Given the description of an element on the screen output the (x, y) to click on. 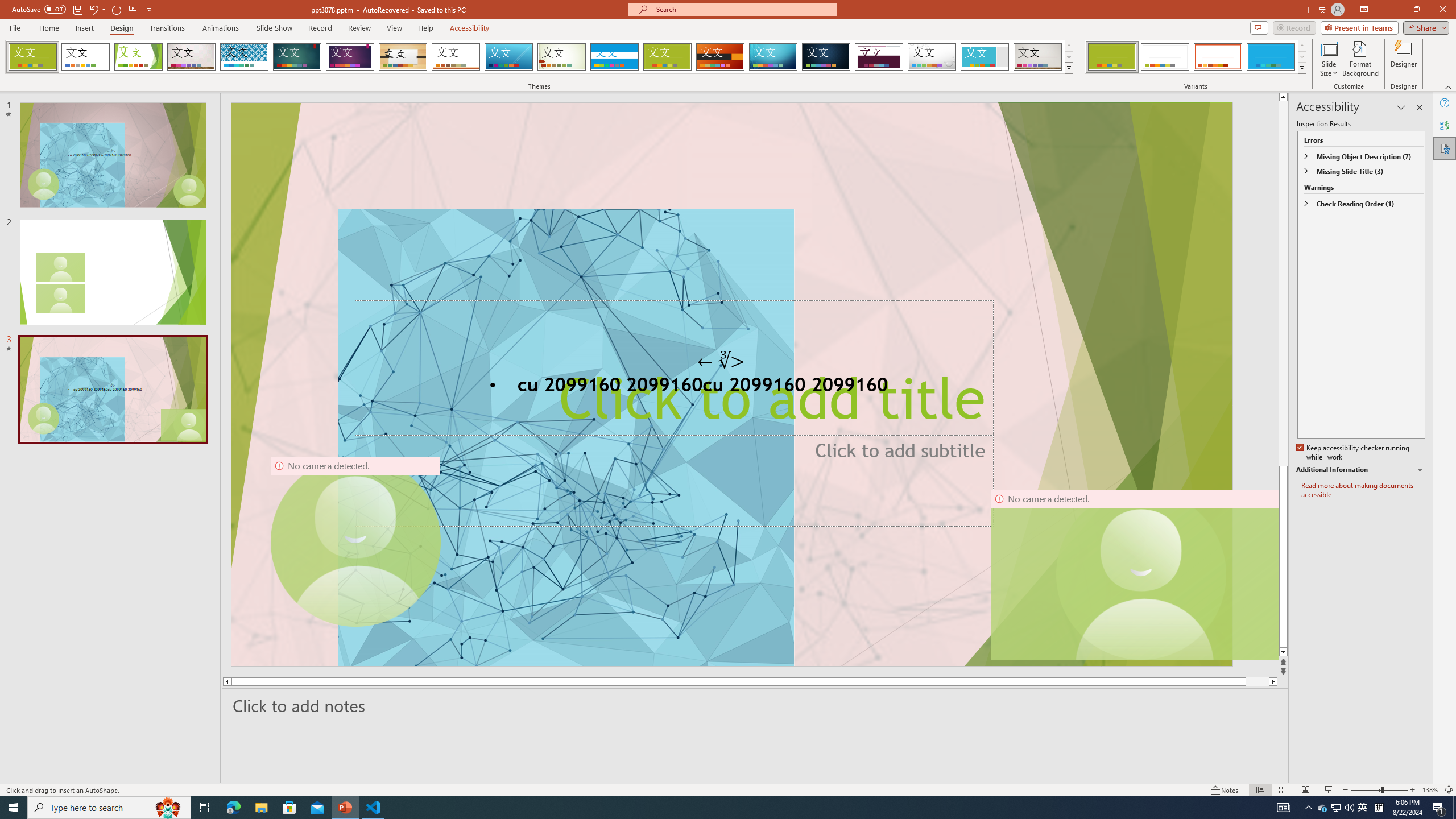
Page up (1283, 283)
Format Background (1360, 58)
Basis Variant 2 (1164, 56)
TextBox 61 (730, 386)
Translator (1444, 125)
TextBox 7 (720, 359)
